Given the description of an element on the screen output the (x, y) to click on. 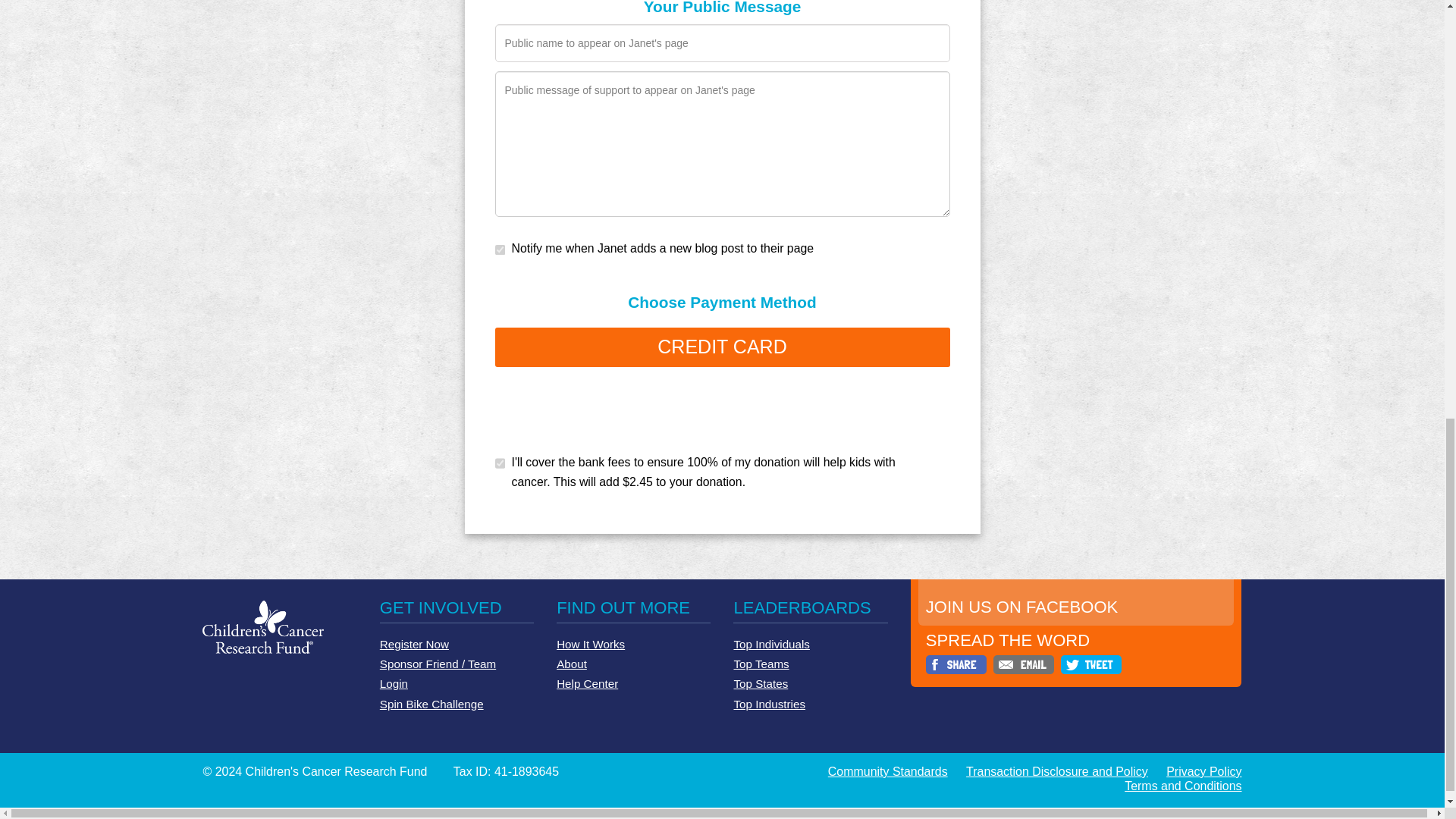
true (454, 146)
true (454, 341)
